Given the description of an element on the screen output the (x, y) to click on. 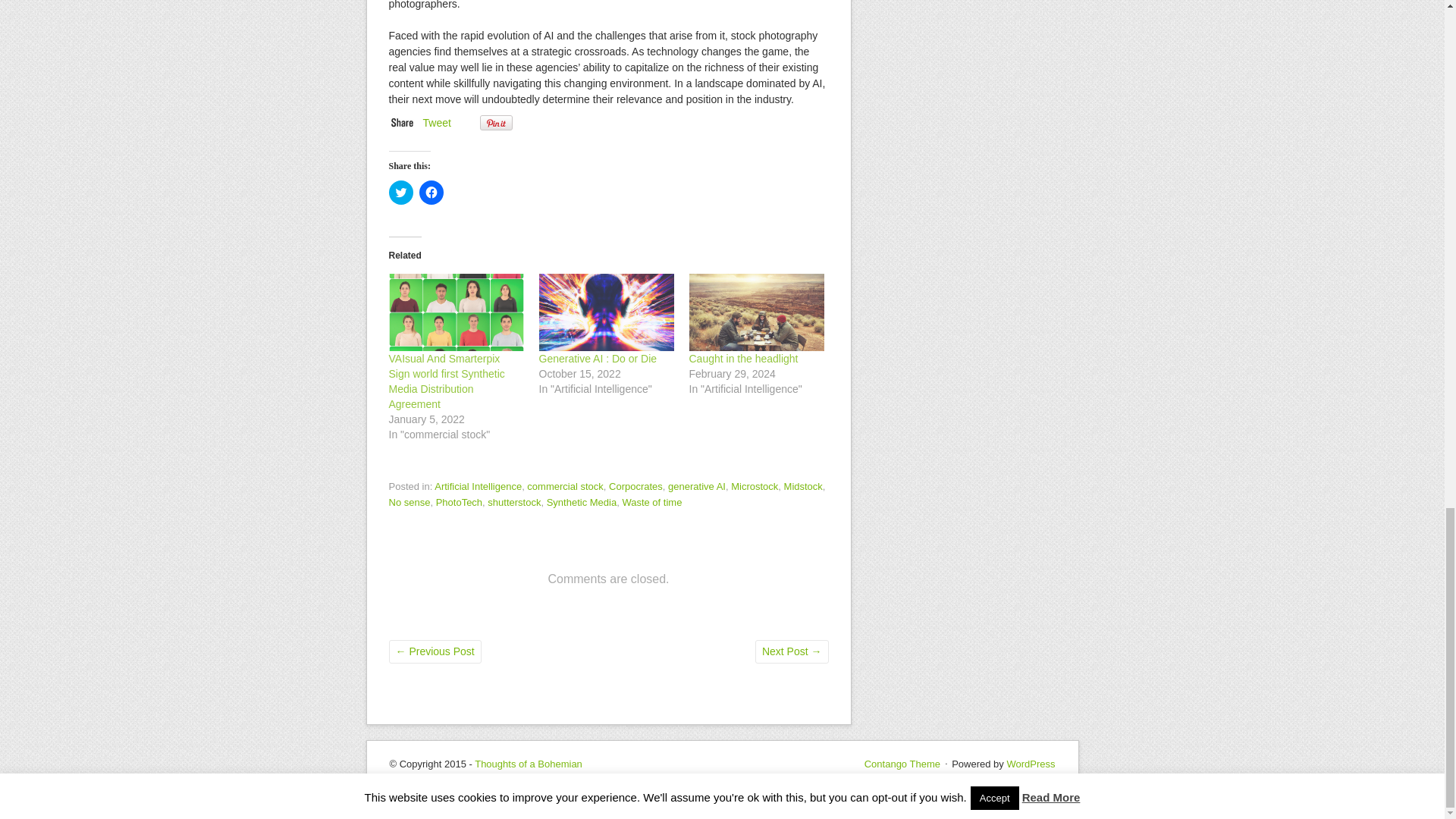
PhotoTech (458, 501)
Synthetic Media (582, 501)
Artificial Intelligence (477, 486)
Click to share on Twitter (400, 192)
Tweet (437, 122)
No sense (408, 501)
generative AI (696, 486)
Generative AI : Do or Die (597, 358)
